Given the description of an element on the screen output the (x, y) to click on. 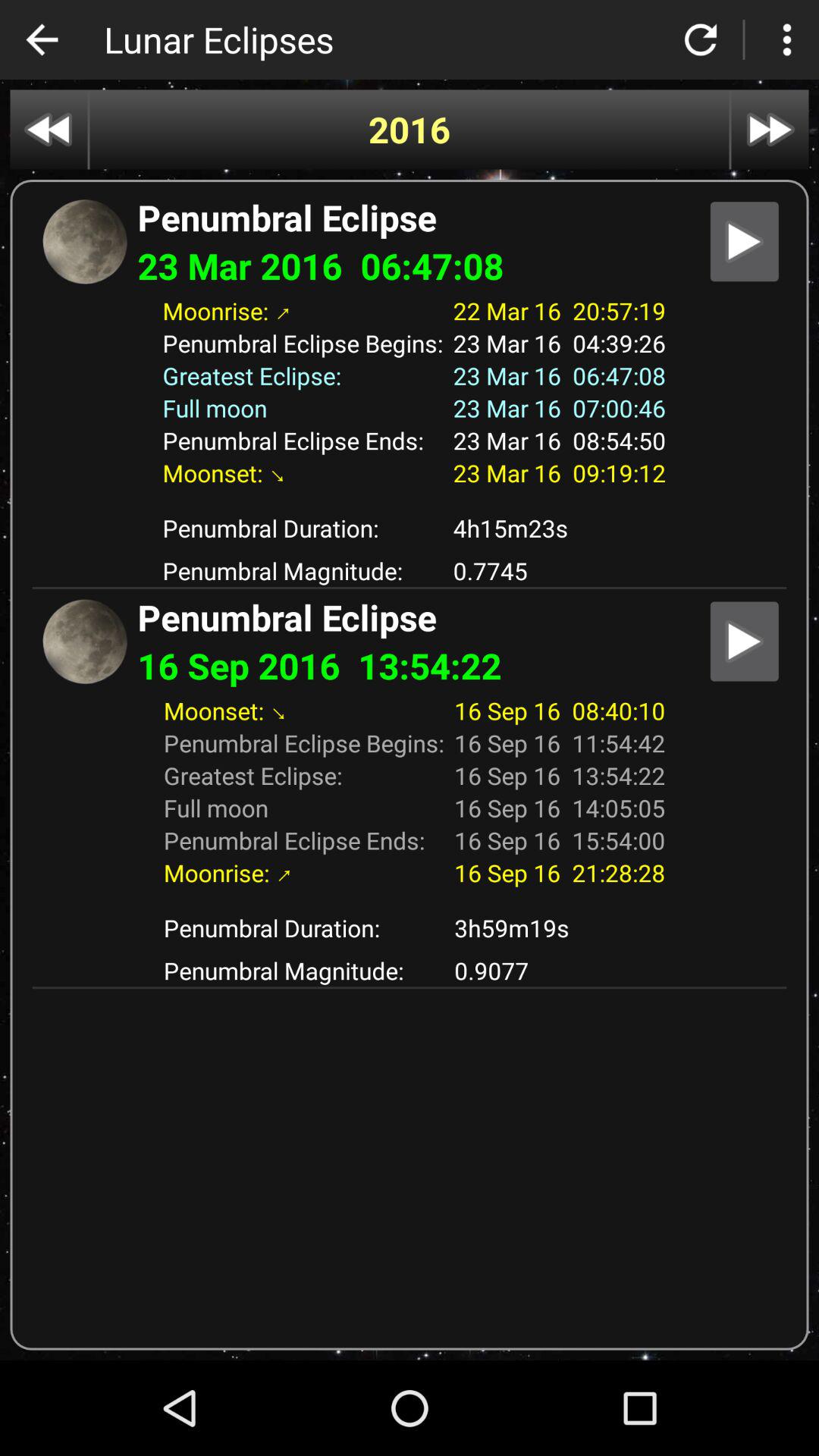
switch to previous page (41, 39)
